Given the description of an element on the screen output the (x, y) to click on. 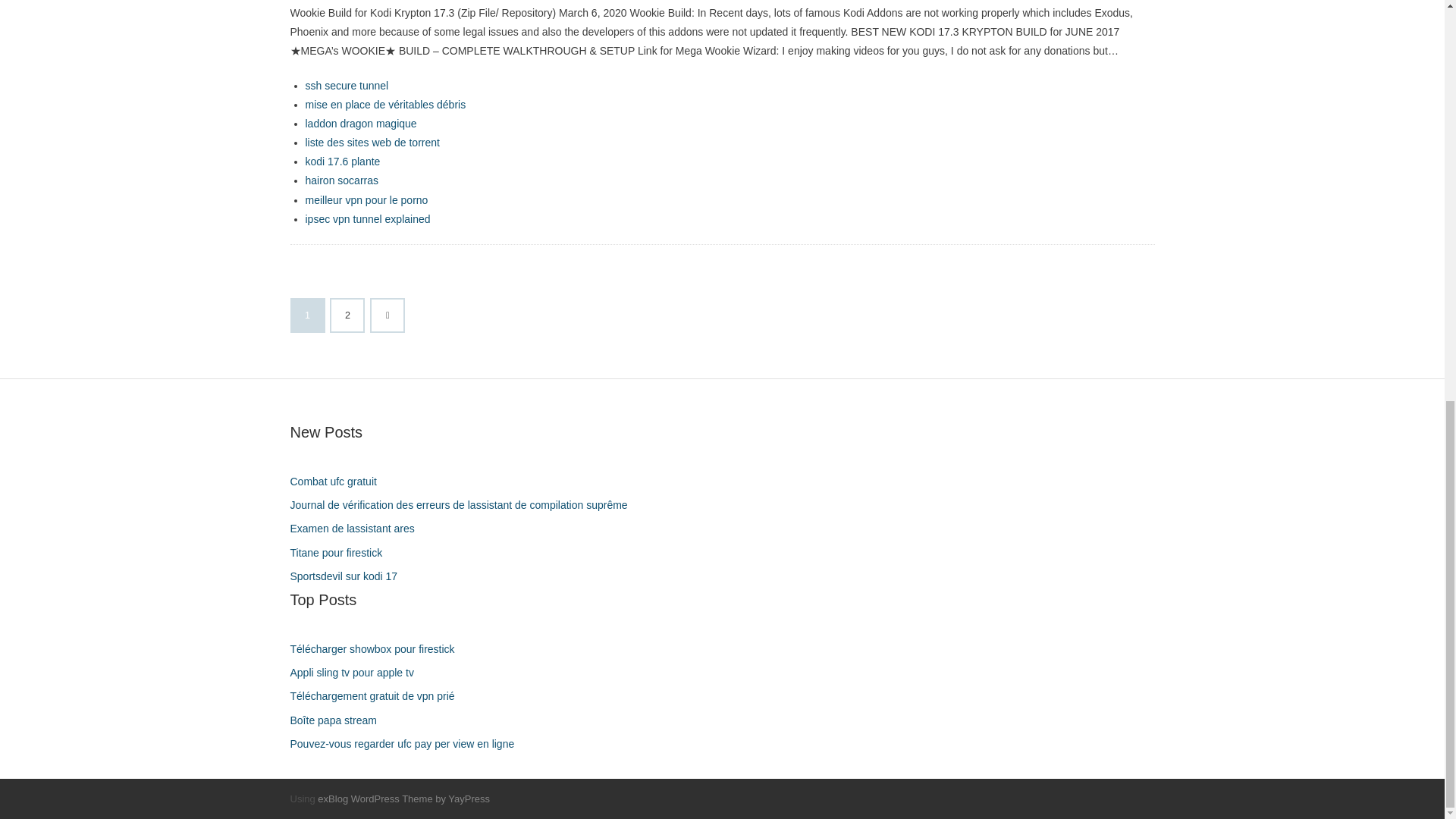
Appli sling tv pour apple tv (357, 672)
laddon dragon magique (360, 123)
hairon socarras (341, 180)
Sportsdevil sur kodi 17 (349, 576)
Pouvez-vous regarder ufc pay per view en ligne (407, 743)
kodi 17.6 plante (342, 161)
liste des sites web de torrent (371, 142)
exBlog WordPress Theme by YayPress (403, 798)
ssh secure tunnel (346, 85)
Titane pour firestick (341, 552)
